Given the description of an element on the screen output the (x, y) to click on. 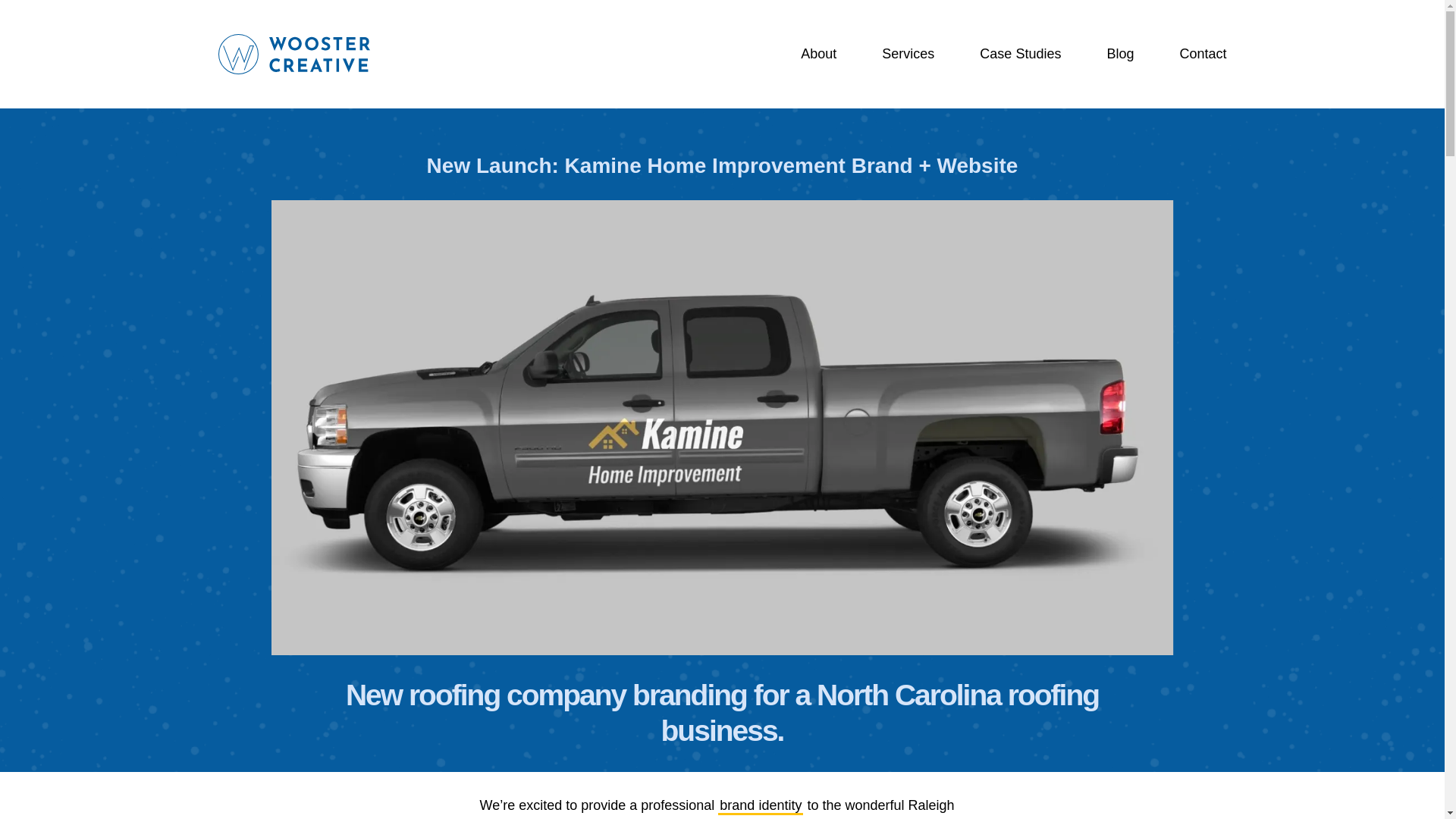
Case Studies (1020, 54)
Contact (1202, 54)
About (817, 54)
brand identity (760, 805)
Blog (1120, 54)
Services (908, 54)
